Given the description of an element on the screen output the (x, y) to click on. 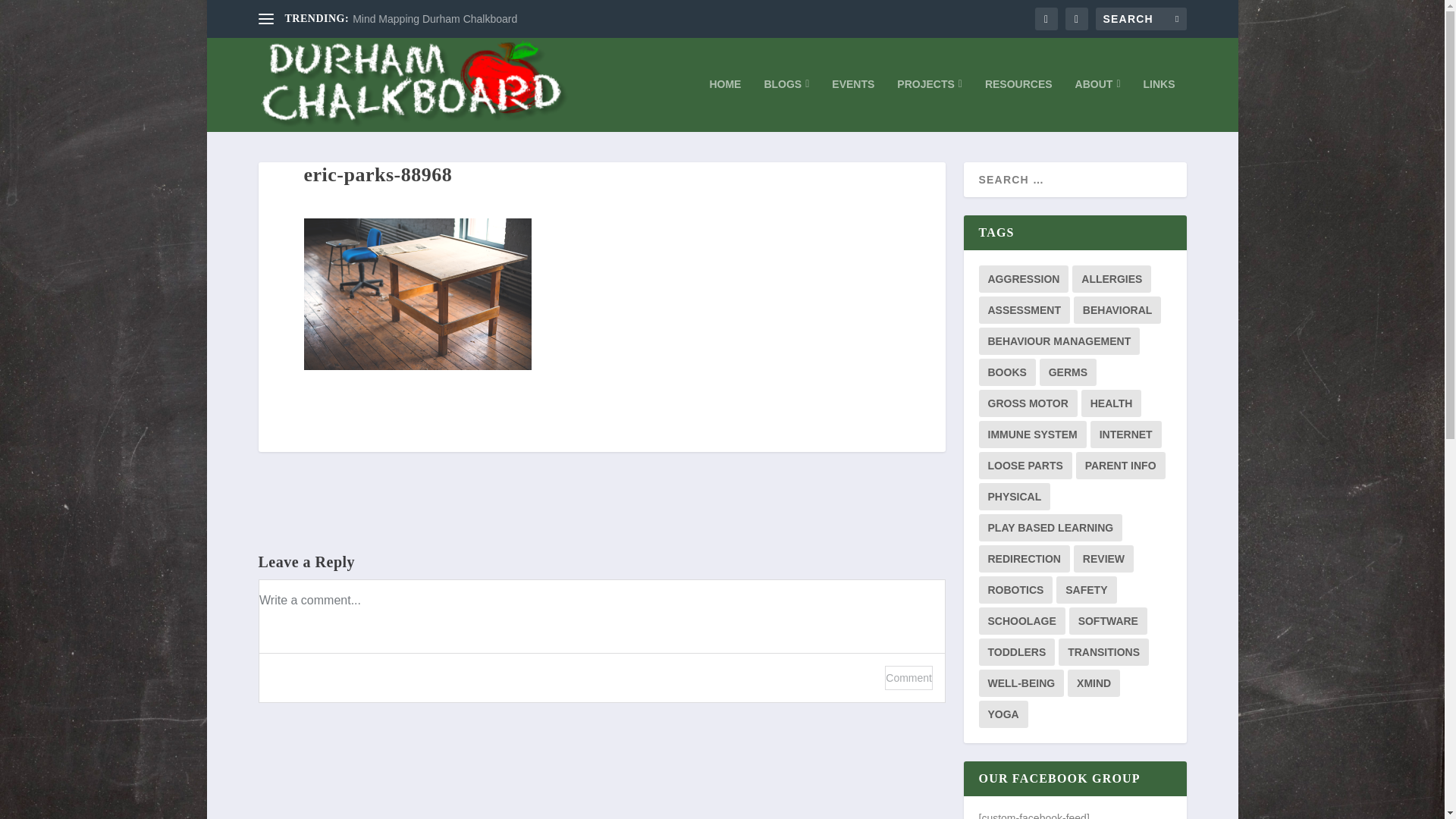
PROJECTS (929, 104)
Mind Mapping Durham Chalkboard (434, 19)
Comment Form (600, 640)
